Given the description of an element on the screen output the (x, y) to click on. 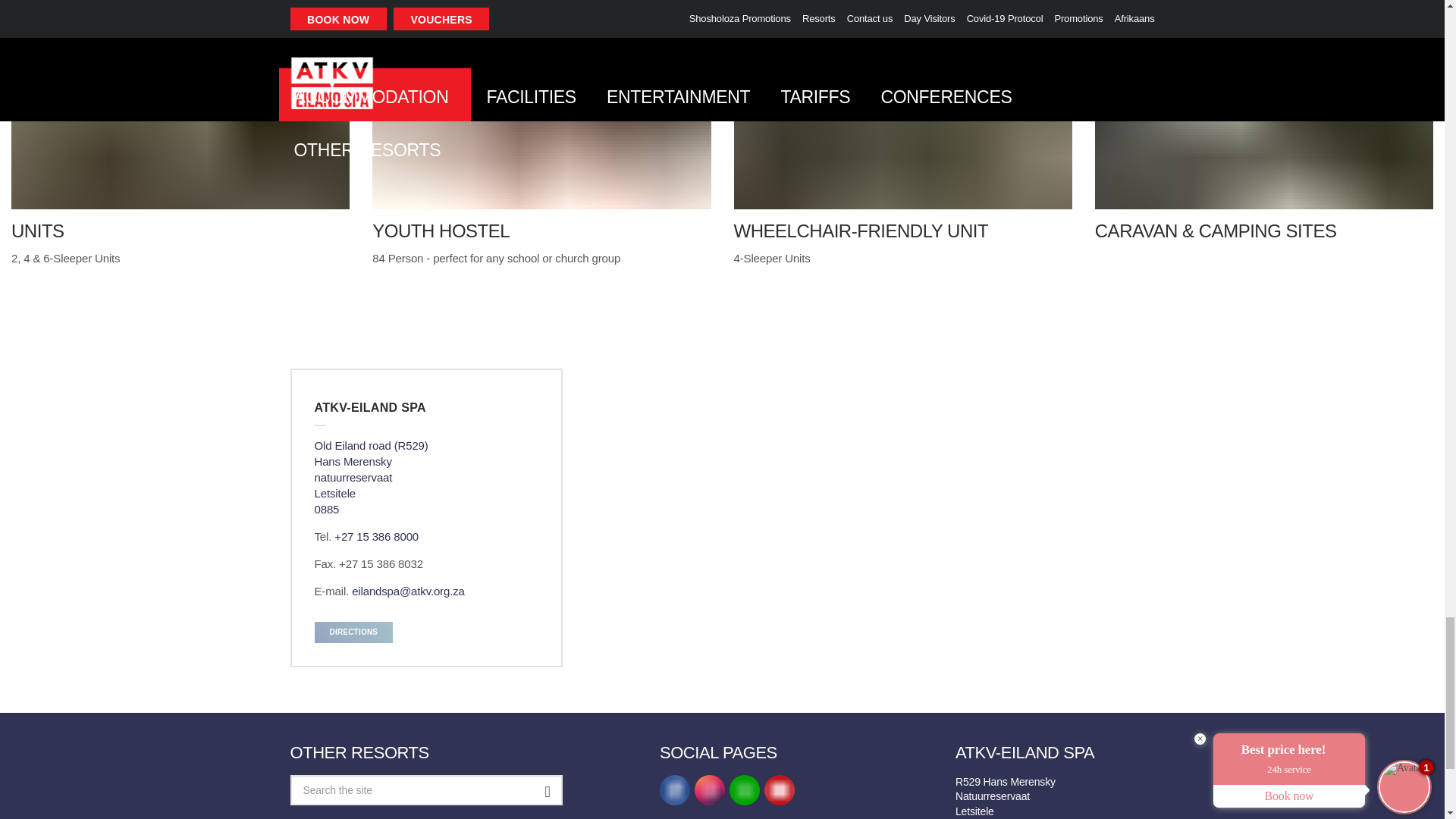
DIRECTIONS (353, 631)
UNITS (180, 121)
YOUTH HOSTEL (541, 121)
WHEELCHAIR-FRIENDLY UNIT (902, 121)
ATKV-EILAND SPA (426, 407)
